Given the description of an element on the screen output the (x, y) to click on. 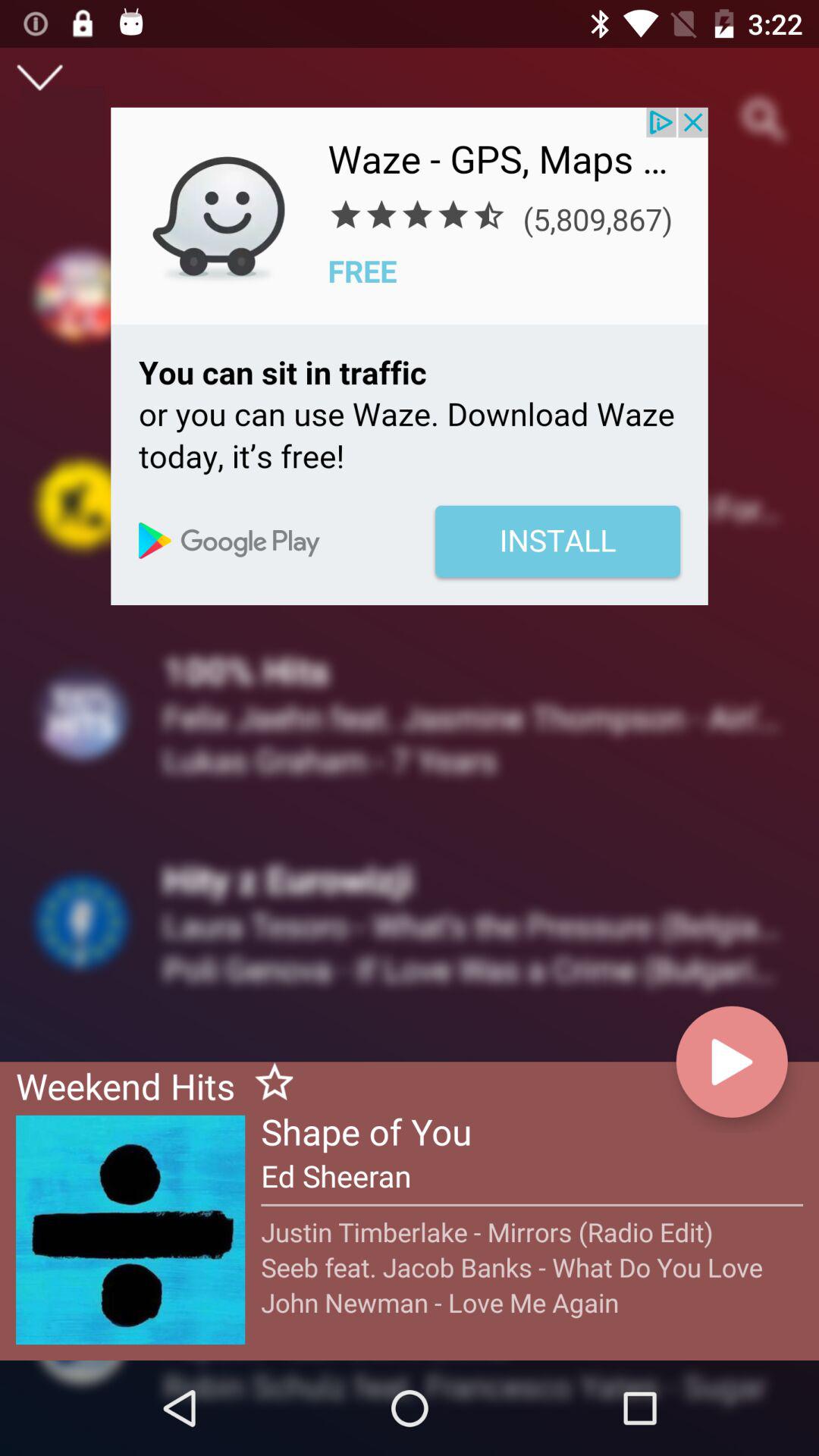
bookmark (267, 1084)
